Given the description of an element on the screen output the (x, y) to click on. 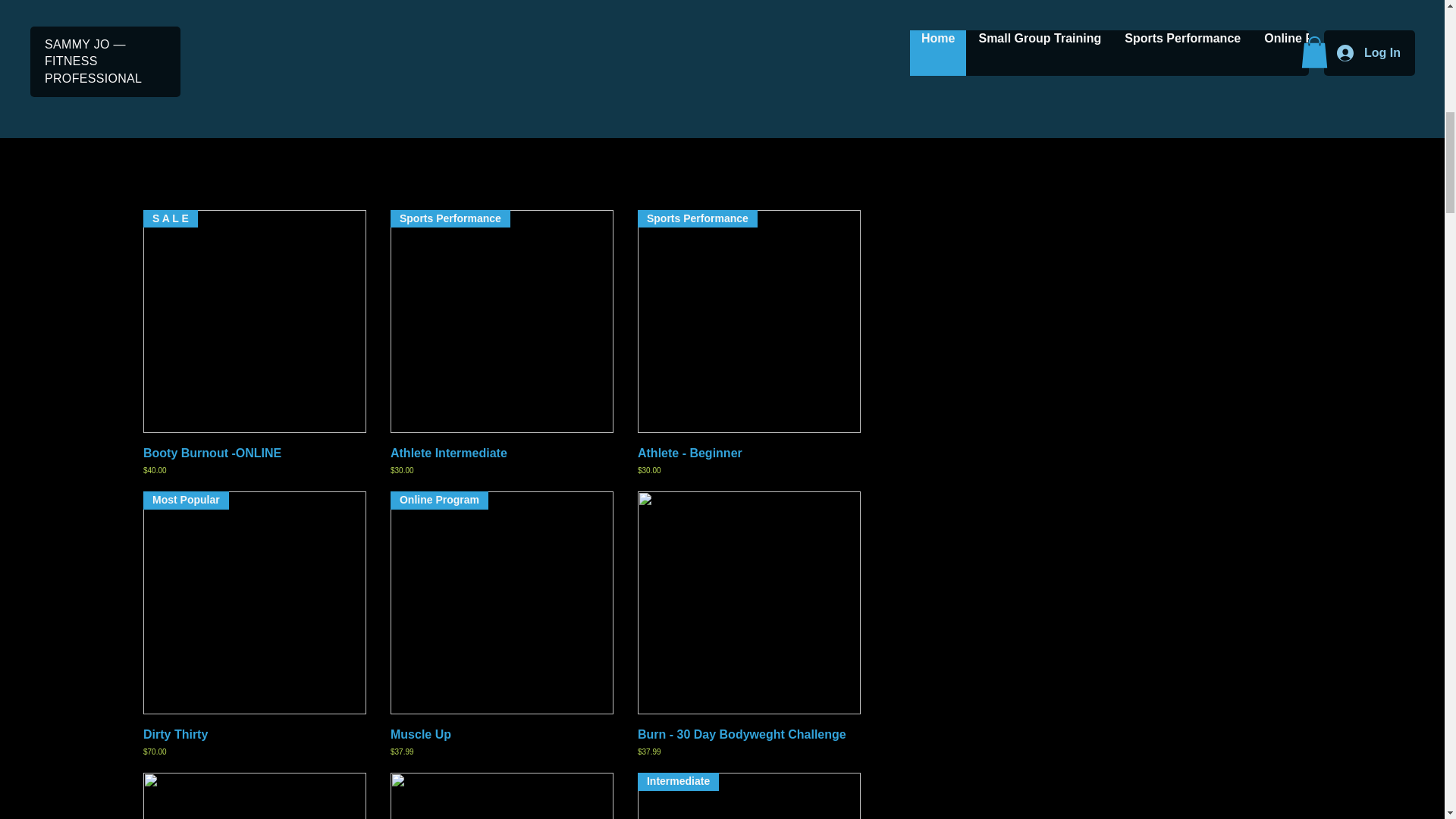
Online Program (501, 602)
S A L E (254, 321)
Sports Performance (501, 321)
Sports Performance (748, 321)
Most Popular (254, 602)
Intermediate (748, 796)
